Given the description of an element on the screen output the (x, y) to click on. 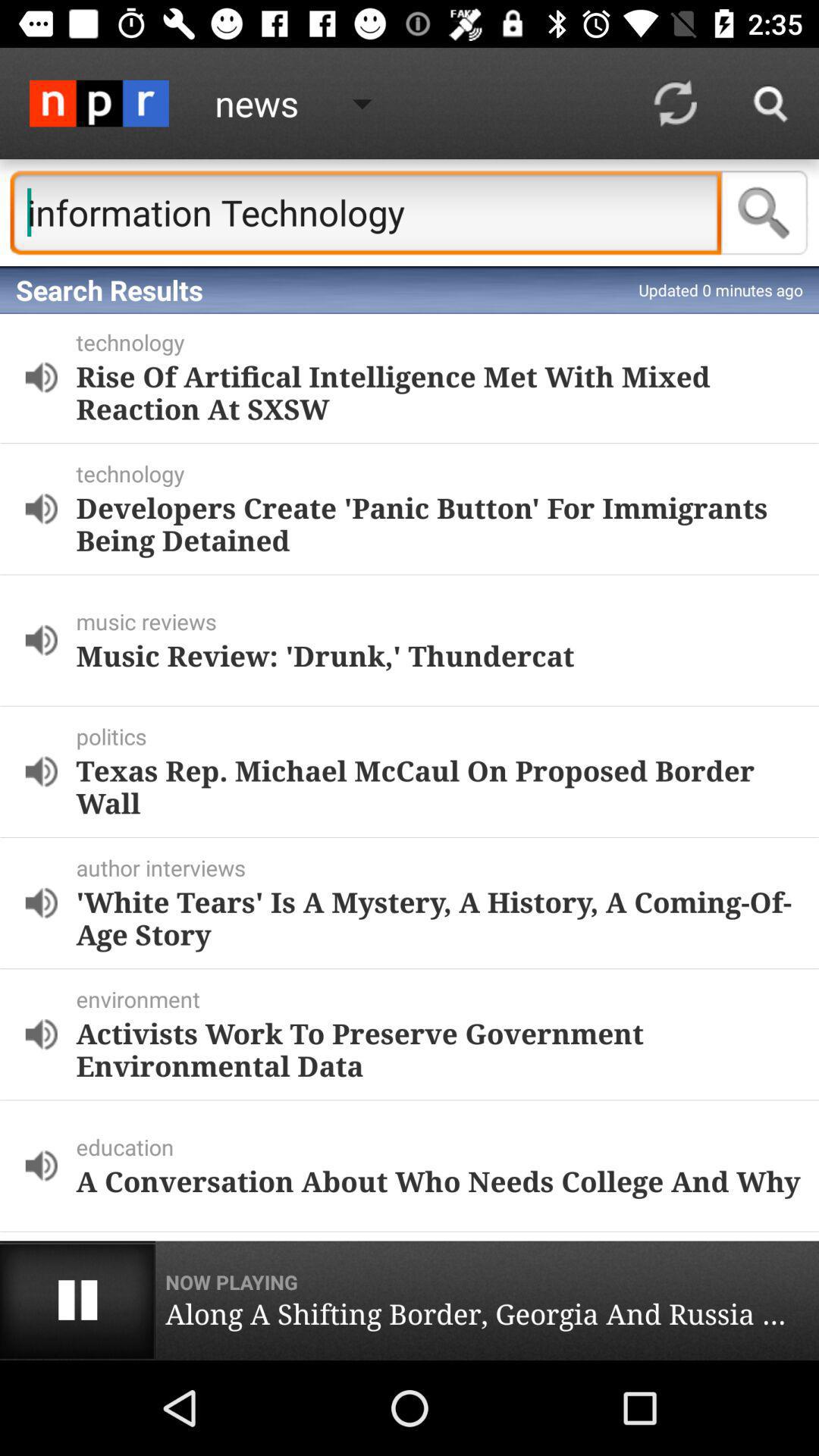
scroll to the texas rep michael (438, 786)
